Given the description of an element on the screen output the (x, y) to click on. 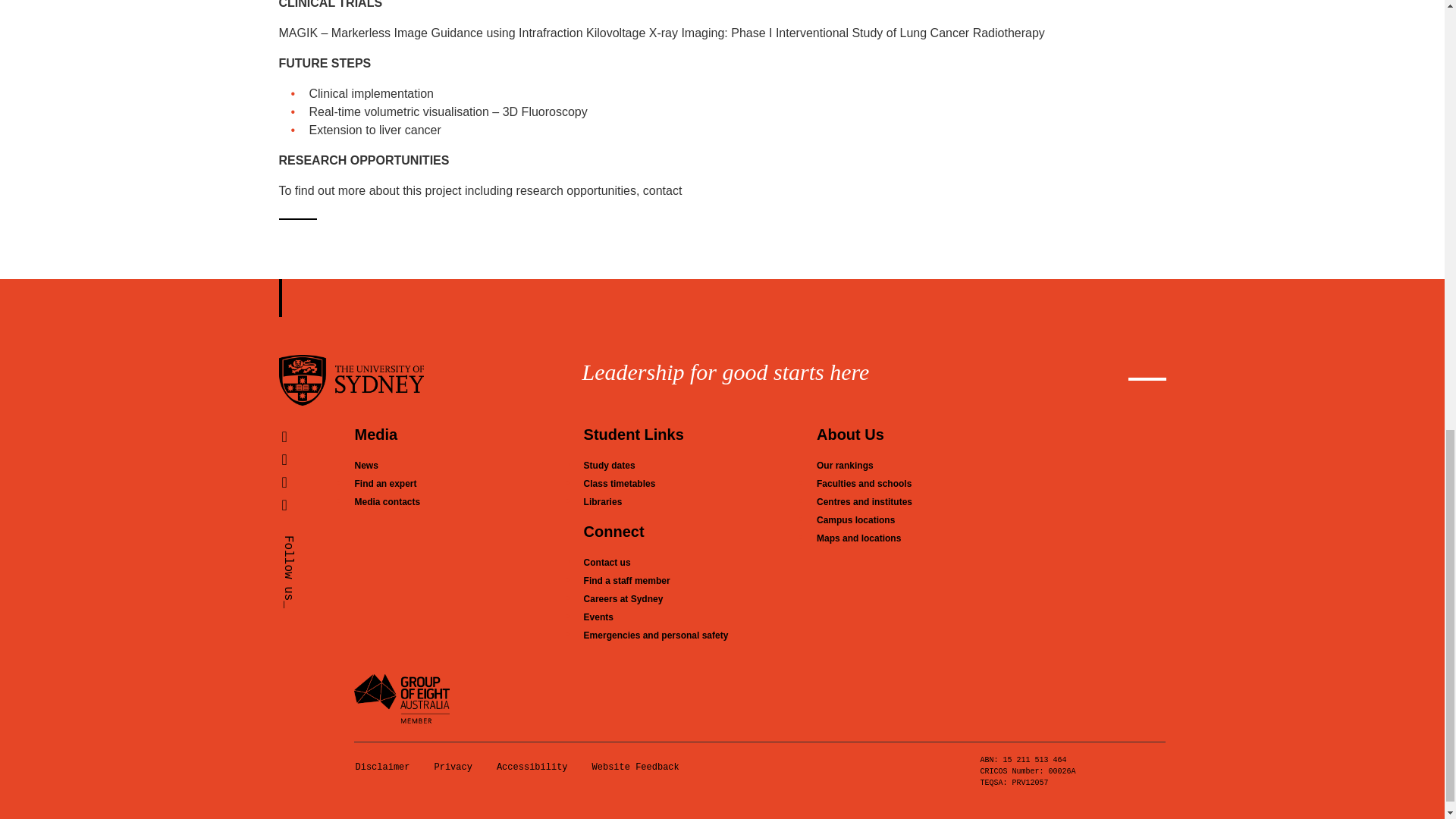
Media contacts (386, 501)
News (365, 465)
Find an expert (384, 483)
